Given the description of an element on the screen output the (x, y) to click on. 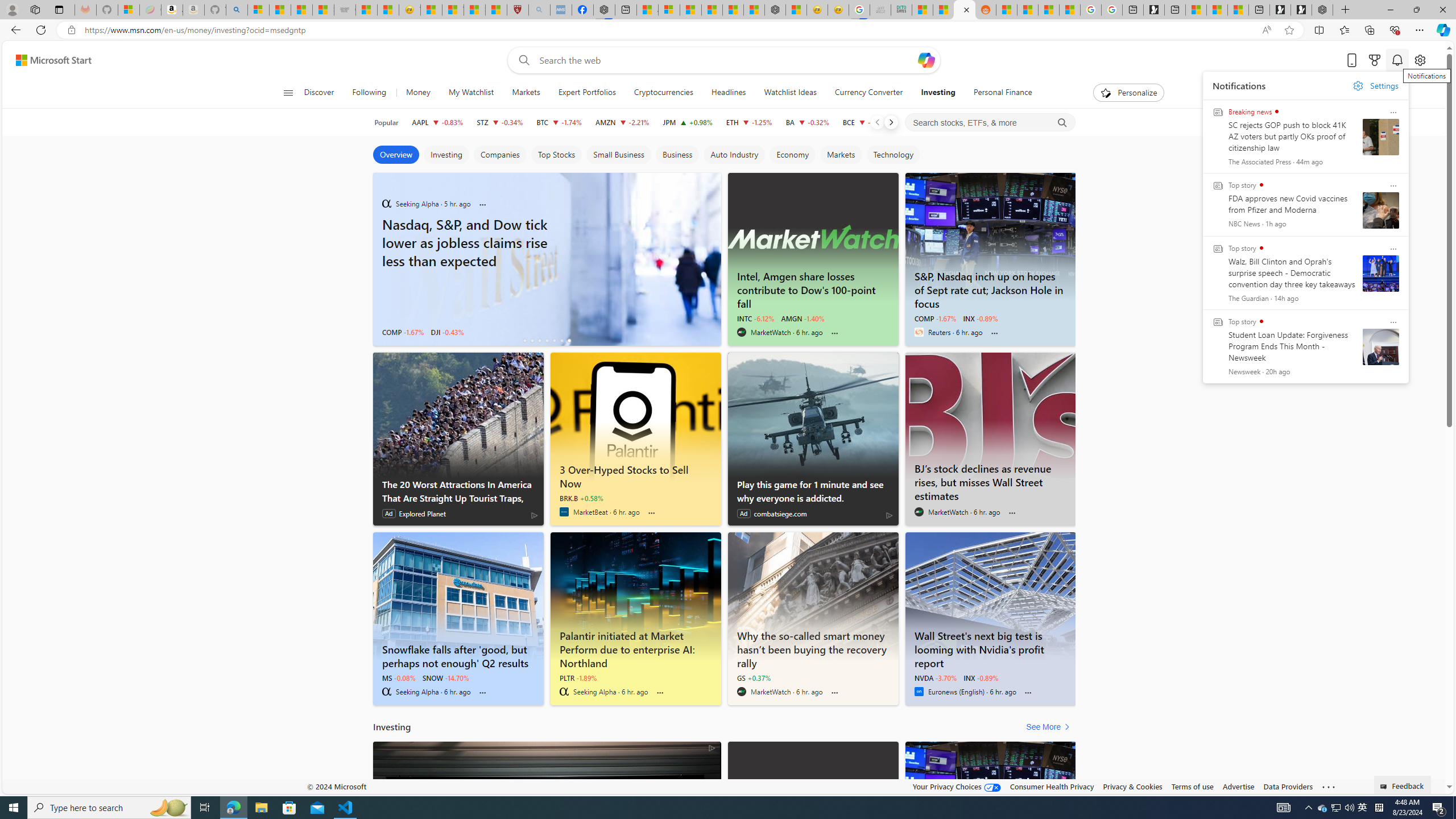
Headlines (727, 92)
Consumer Health Privacy (1051, 786)
Watchlist Ideas (789, 92)
See more (1328, 787)
My Watchlist (471, 92)
STZ CONSTELLATION BRANDS, INC. decrease 243.92 -0.82 -0.34% (499, 122)
Privacy & Cookies (1131, 786)
BA THE BOEING COMPANY decrease 172.87 -0.56 -0.32% (806, 122)
list of asthma inhalers uk - Search - Sleeping (539, 9)
JPM JPMORGAN CHASE & CO. increase 216.71 +2.11 +0.98% (687, 122)
AdChoices (710, 747)
Open settings (1420, 60)
